Given the description of an element on the screen output the (x, y) to click on. 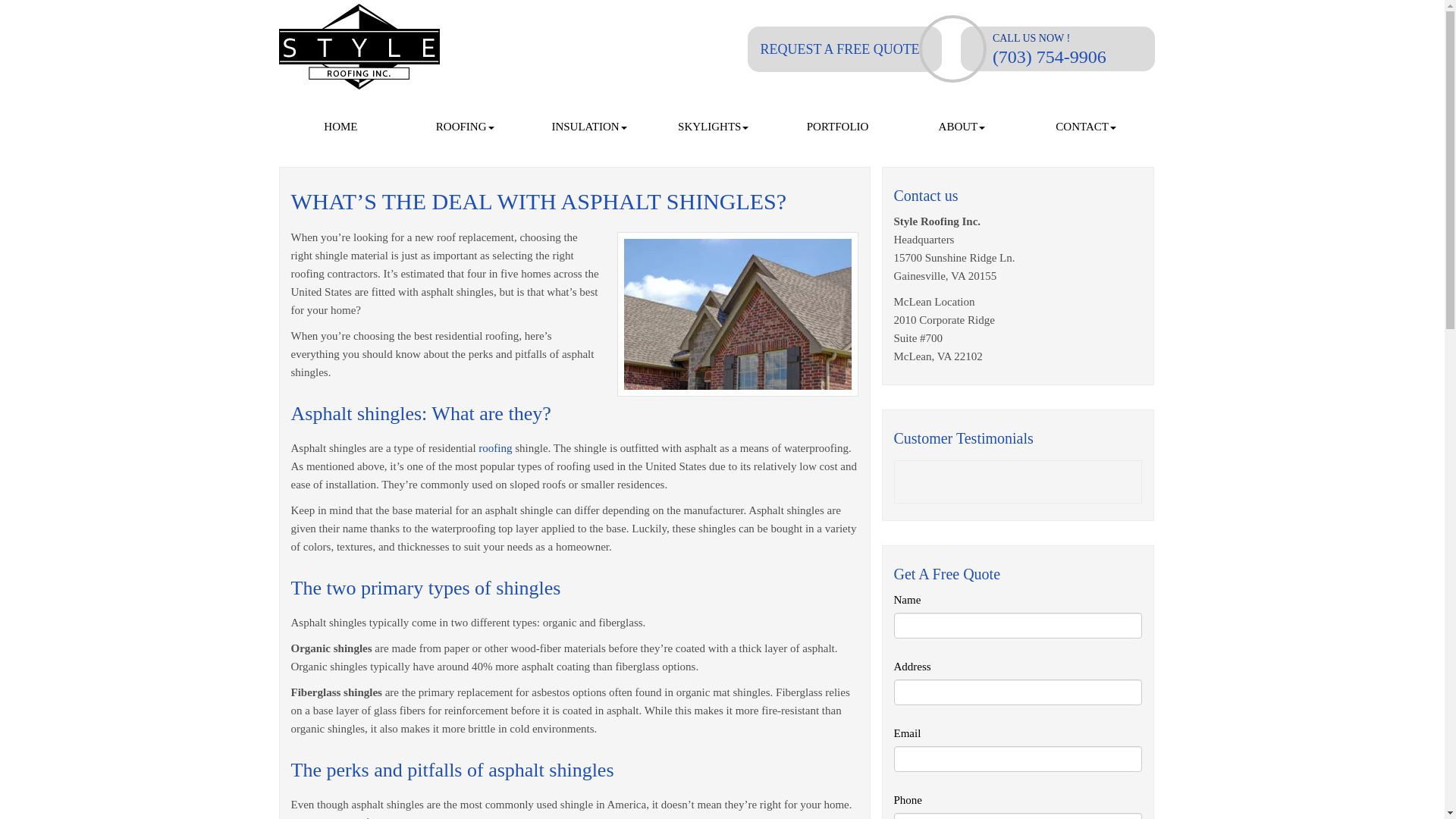
ABOUT (961, 126)
SKYLIGHTS (713, 126)
PORTFOLIO (837, 126)
CONTACT (1085, 126)
HOME (341, 126)
ROOFING (465, 126)
INSULATION (588, 126)
REQUEST A FREE QUOTE (839, 48)
